Given the description of an element on the screen output the (x, y) to click on. 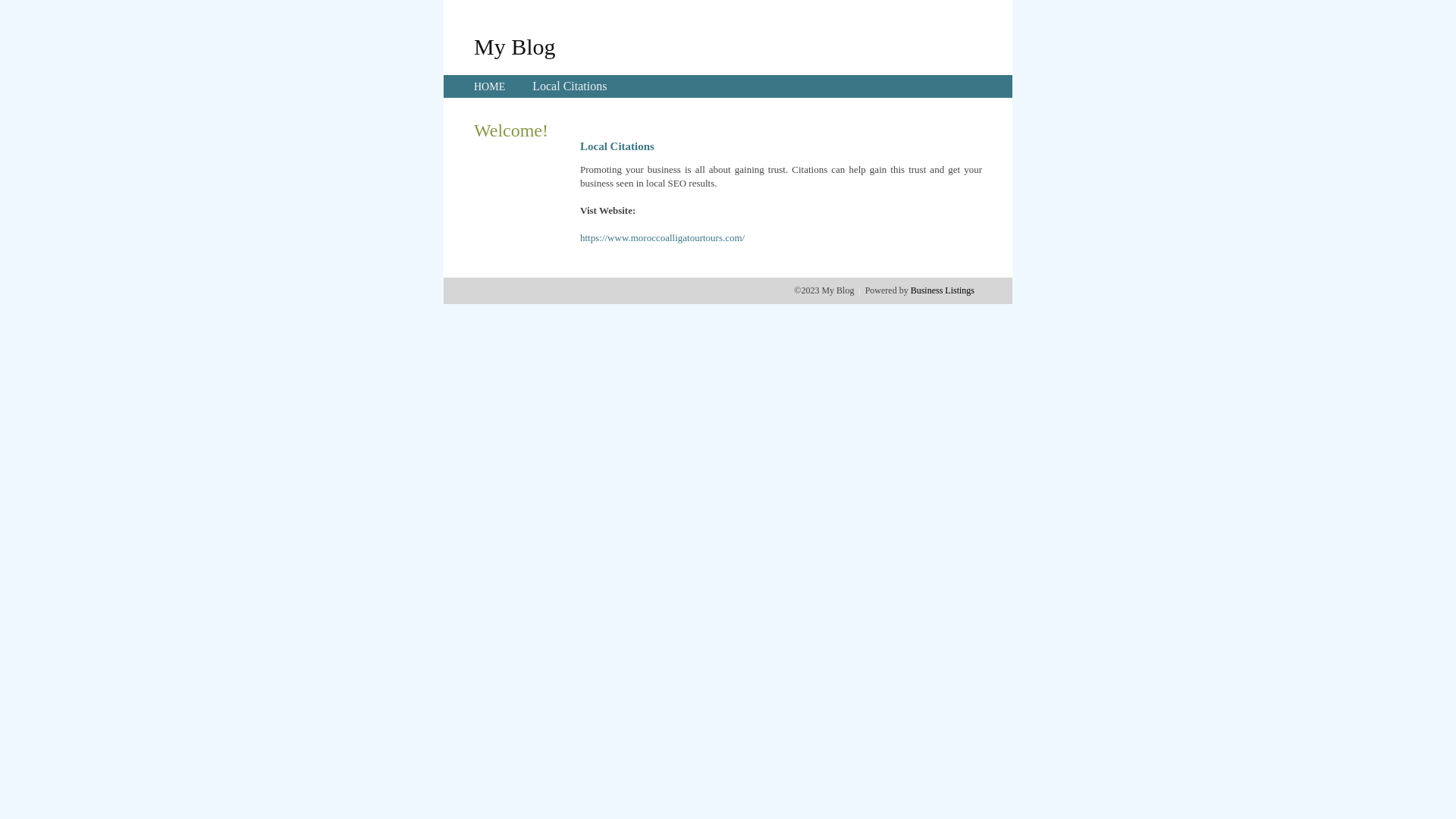
HOME Element type: text (489, 86)
My Blog Element type: text (514, 46)
Business Listings Element type: text (942, 290)
Local Citations Element type: text (569, 85)
https://www.moroccoalligatourtours.com/ Element type: text (662, 237)
